Given the description of an element on the screen output the (x, y) to click on. 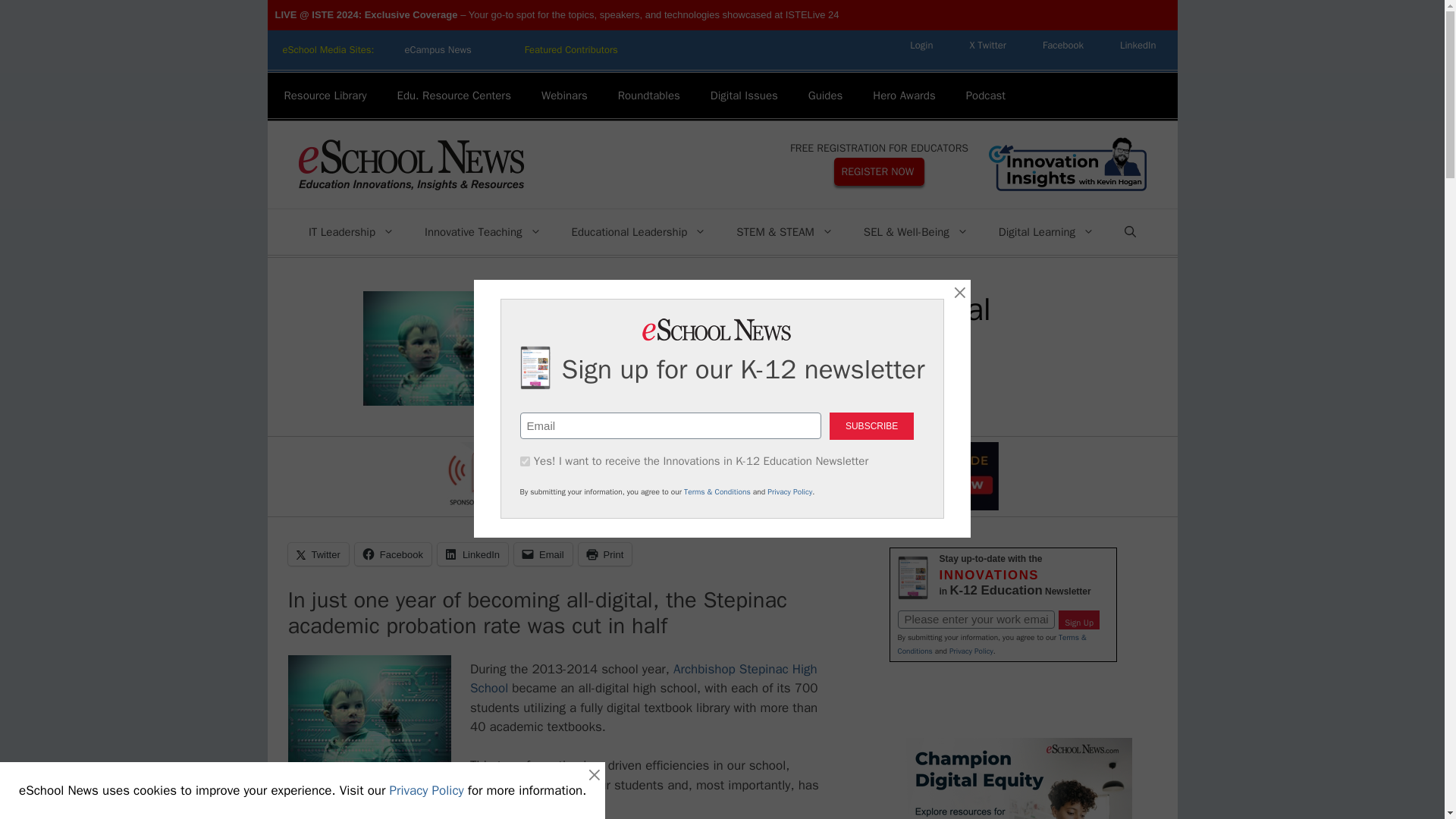
Login (921, 45)
eSchool News (410, 163)
Digital Issues (744, 94)
Twitter (987, 45)
LinkedIn (1138, 45)
eSchool Media Sites: (327, 50)
LinkedIn (1138, 45)
eClassroom News (571, 50)
REGISTER NOW  (879, 171)
X Twitter (987, 45)
Facebook (1063, 45)
Facebook (1063, 45)
100 (524, 461)
Webinars (563, 94)
Guides (826, 94)
